Given the description of an element on the screen output the (x, y) to click on. 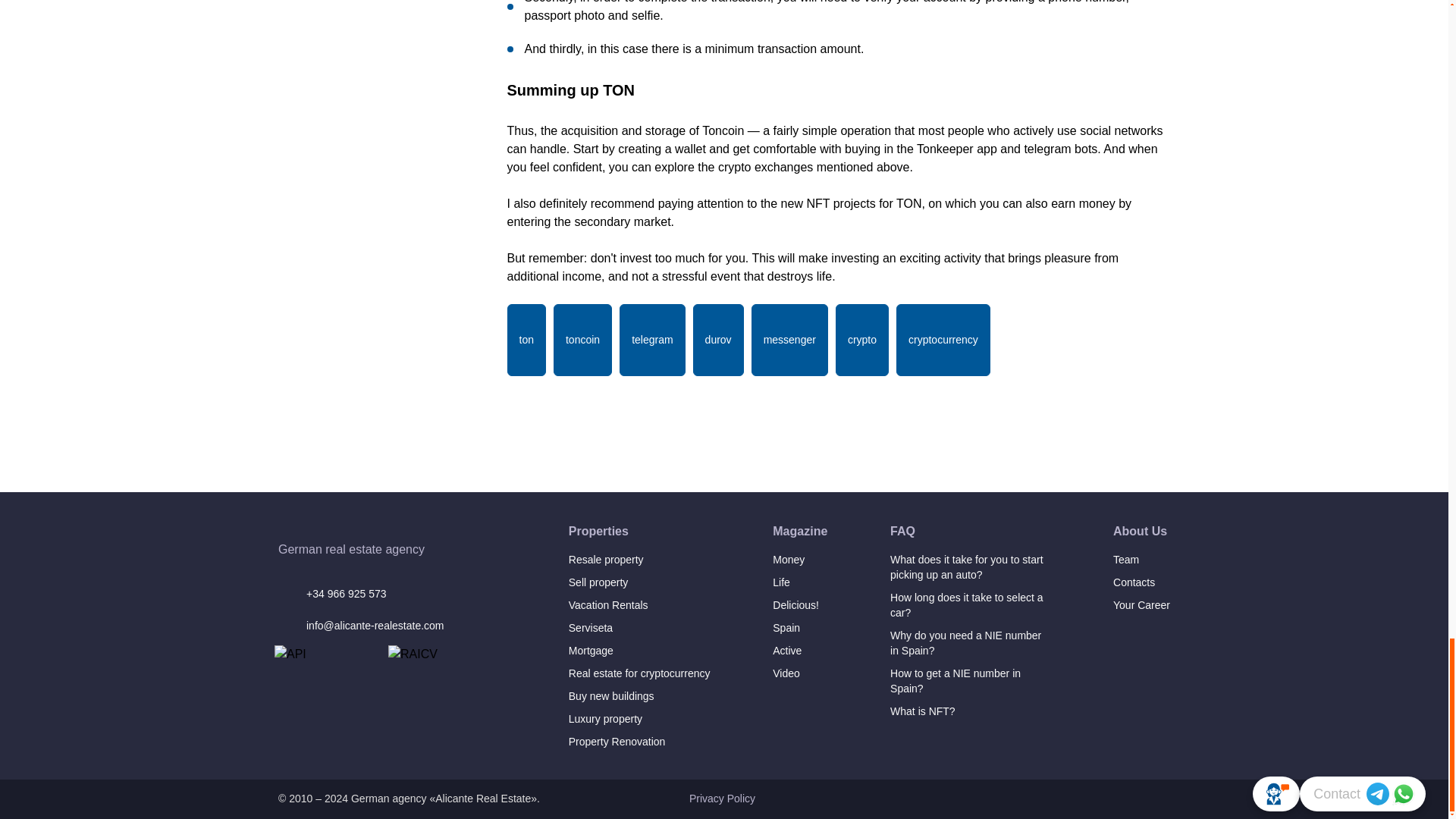
ton (525, 339)
